Given the description of an element on the screen output the (x, y) to click on. 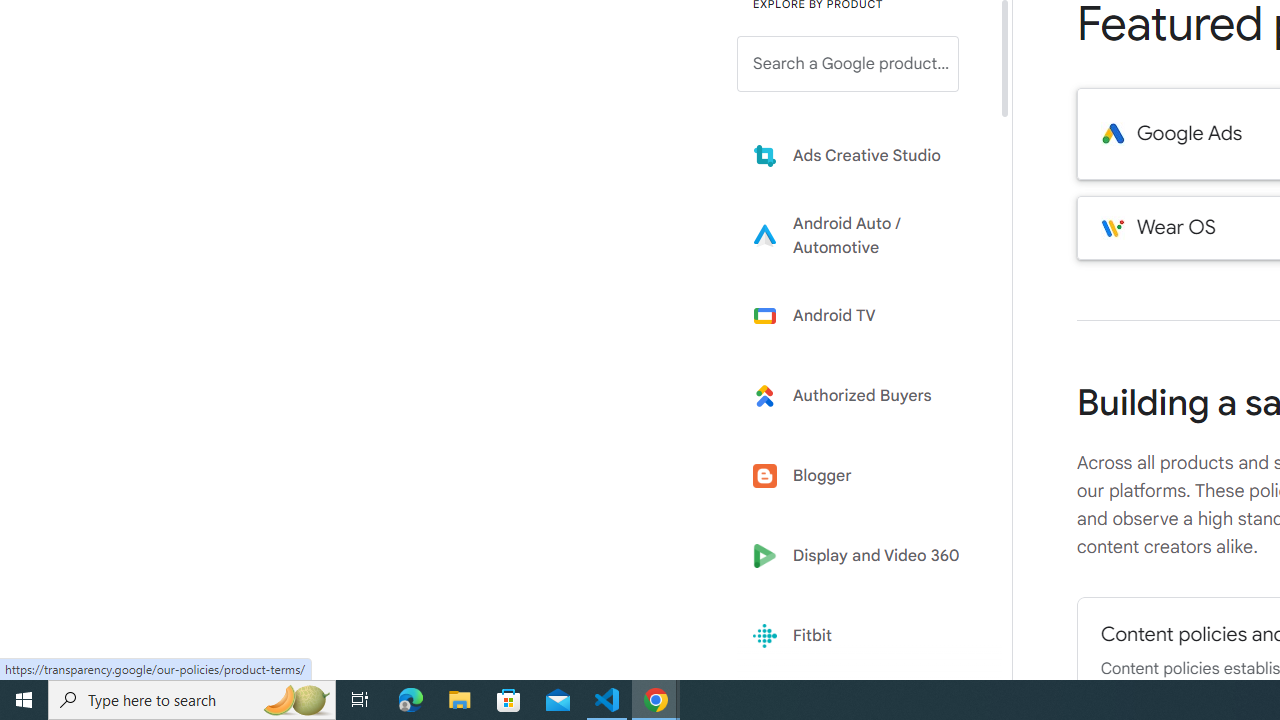
Learn more about Android TV (862, 315)
Learn more about Ads Creative Studio (862, 155)
Learn more about Android Auto (862, 235)
Learn more about Android TV (862, 315)
Learn more about Authorized Buyers (862, 395)
Learn more about Ads Creative Studio (862, 155)
Fitbit (862, 636)
Blogger (862, 476)
Learn more about Android Auto (862, 235)
Blogger (862, 476)
Search a Google product from below list. (847, 64)
Learn more about Authorized Buyers (862, 395)
Display and Video 360 (862, 556)
Display and Video 360 (862, 556)
Fitbit (862, 636)
